Given the description of an element on the screen output the (x, y) to click on. 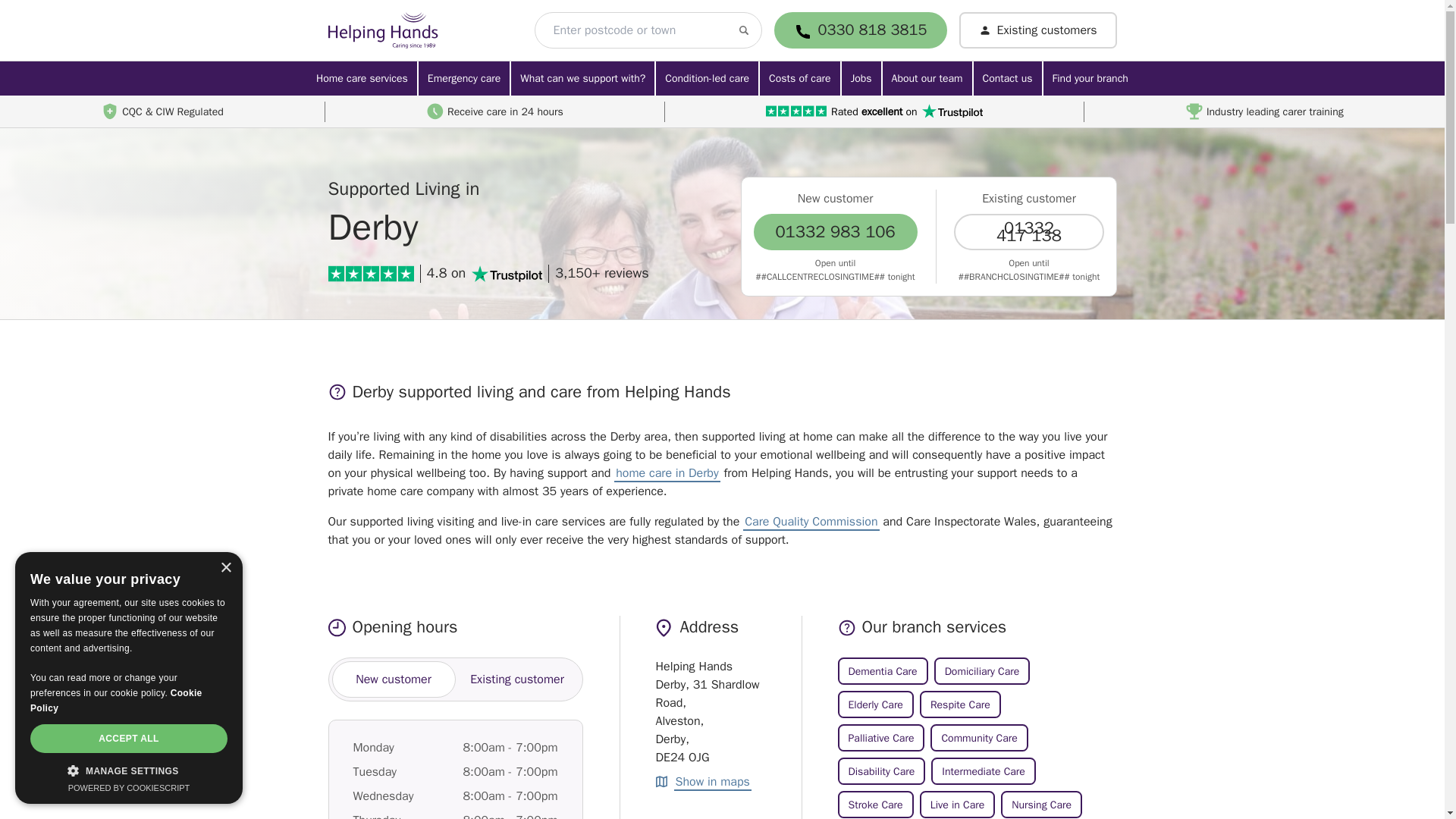
0330 818 3815 (872, 29)
Existing customers (1037, 30)
